Given the description of an element on the screen output the (x, y) to click on. 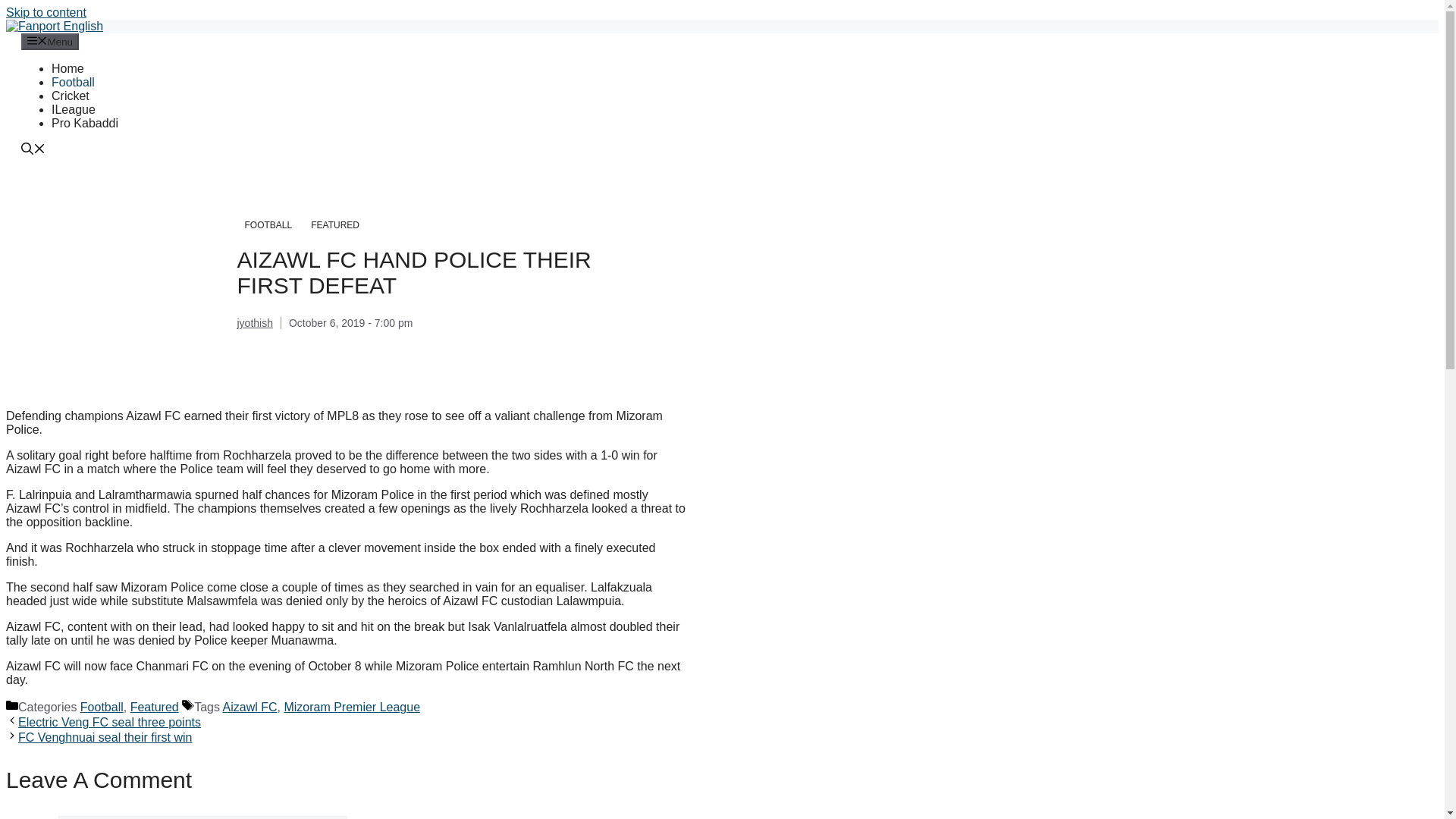
Skip to content (45, 11)
Cricket (69, 95)
Electric Veng FC seal three points (108, 721)
Football (101, 707)
Pro Kabaddi (83, 123)
FOOTBALL (267, 224)
Home (67, 68)
jyothish (253, 322)
FC Venghnuai seal their first win (104, 737)
FEATURED (334, 224)
Aizawl FC (250, 707)
Featured (155, 707)
Mizoram Premier League (351, 707)
Football (72, 82)
Menu (49, 41)
